Given the description of an element on the screen output the (x, y) to click on. 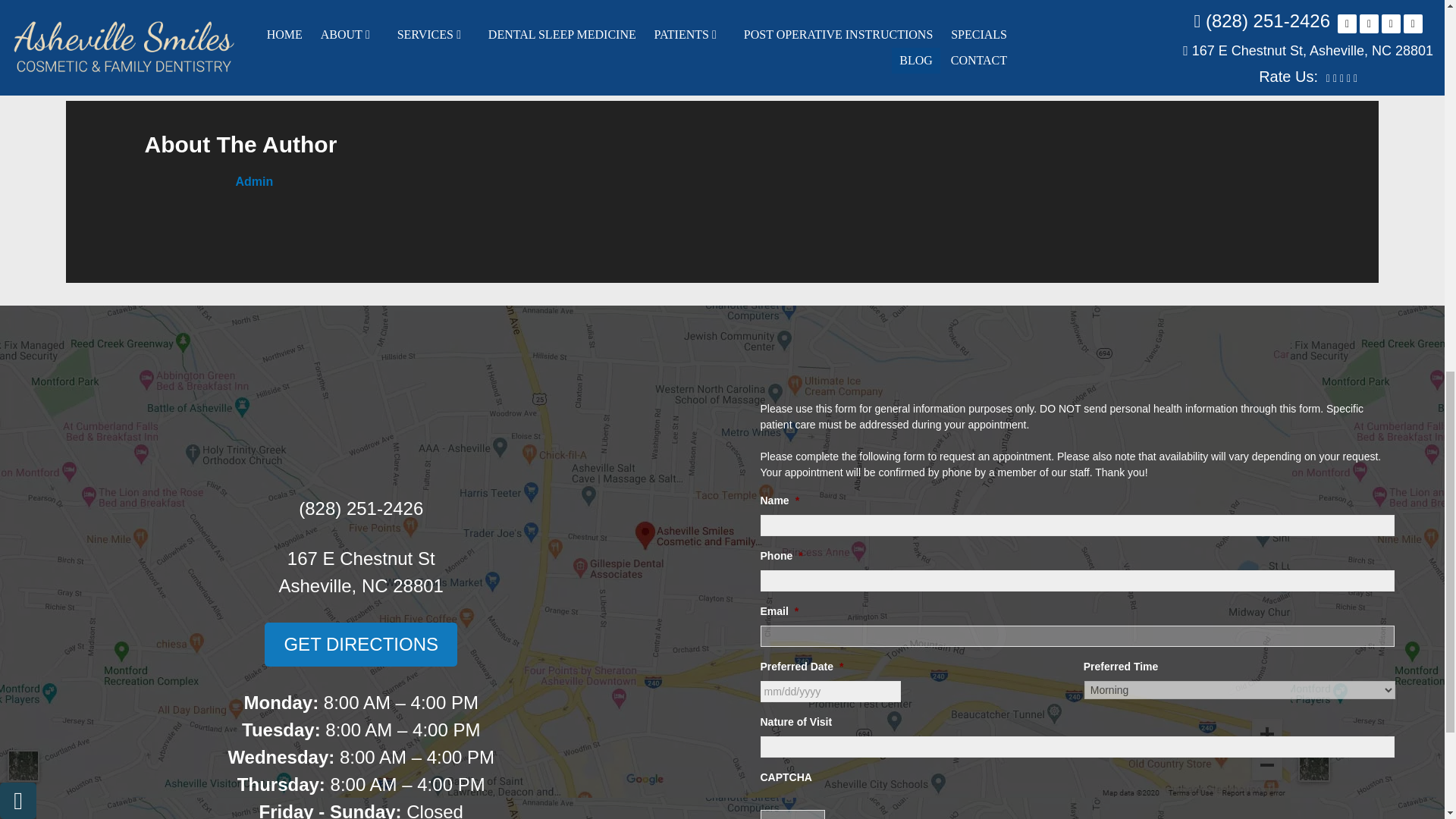
Submit (792, 814)
